Given the description of an element on the screen output the (x, y) to click on. 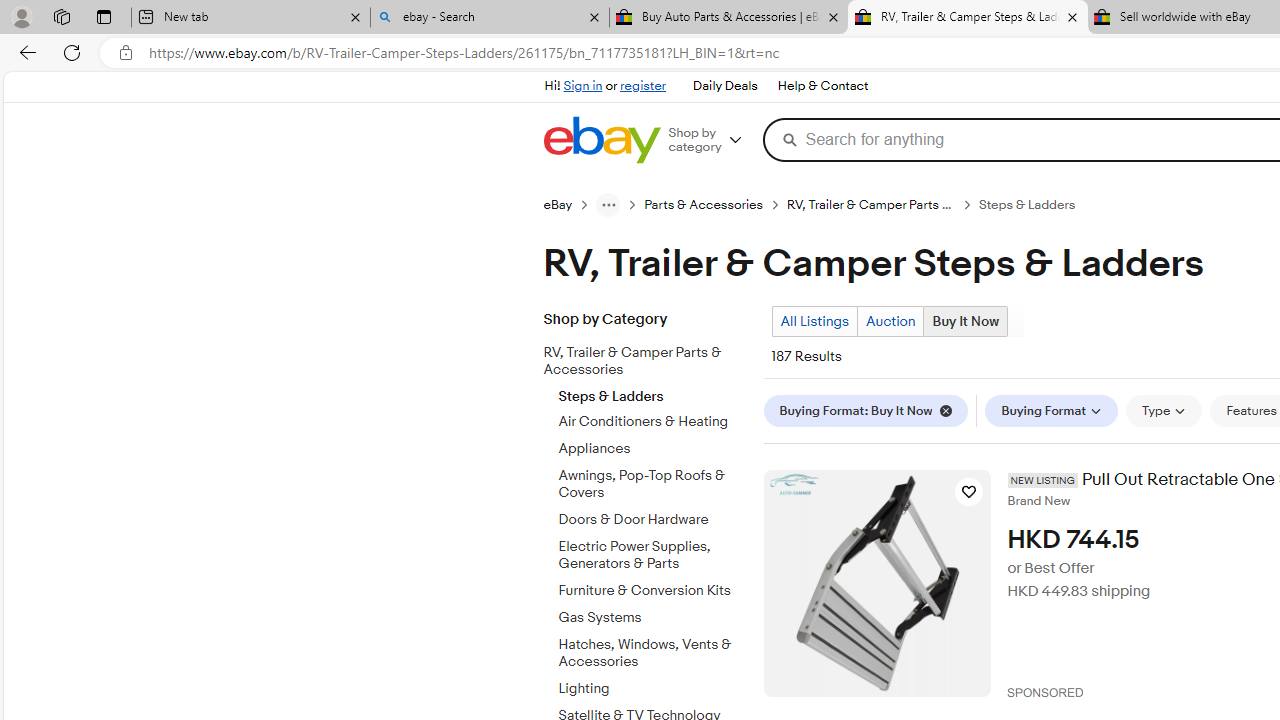
Electric Power Supplies, Generators & Parts (653, 555)
Sign in (582, 85)
Furniture & Conversion Kits (653, 591)
eBay (557, 205)
Parts & Accessories (703, 205)
Daily Deals (724, 86)
Help & Contact (822, 86)
Buying Format (1051, 410)
Steps & Ladders (653, 392)
All Listings (814, 321)
Doors & Door Hardware (653, 520)
RV, Trailer & Camper Steps & Ladders for sale | eBay (967, 17)
Buy It Now Current view (965, 321)
